Given the description of an element on the screen output the (x, y) to click on. 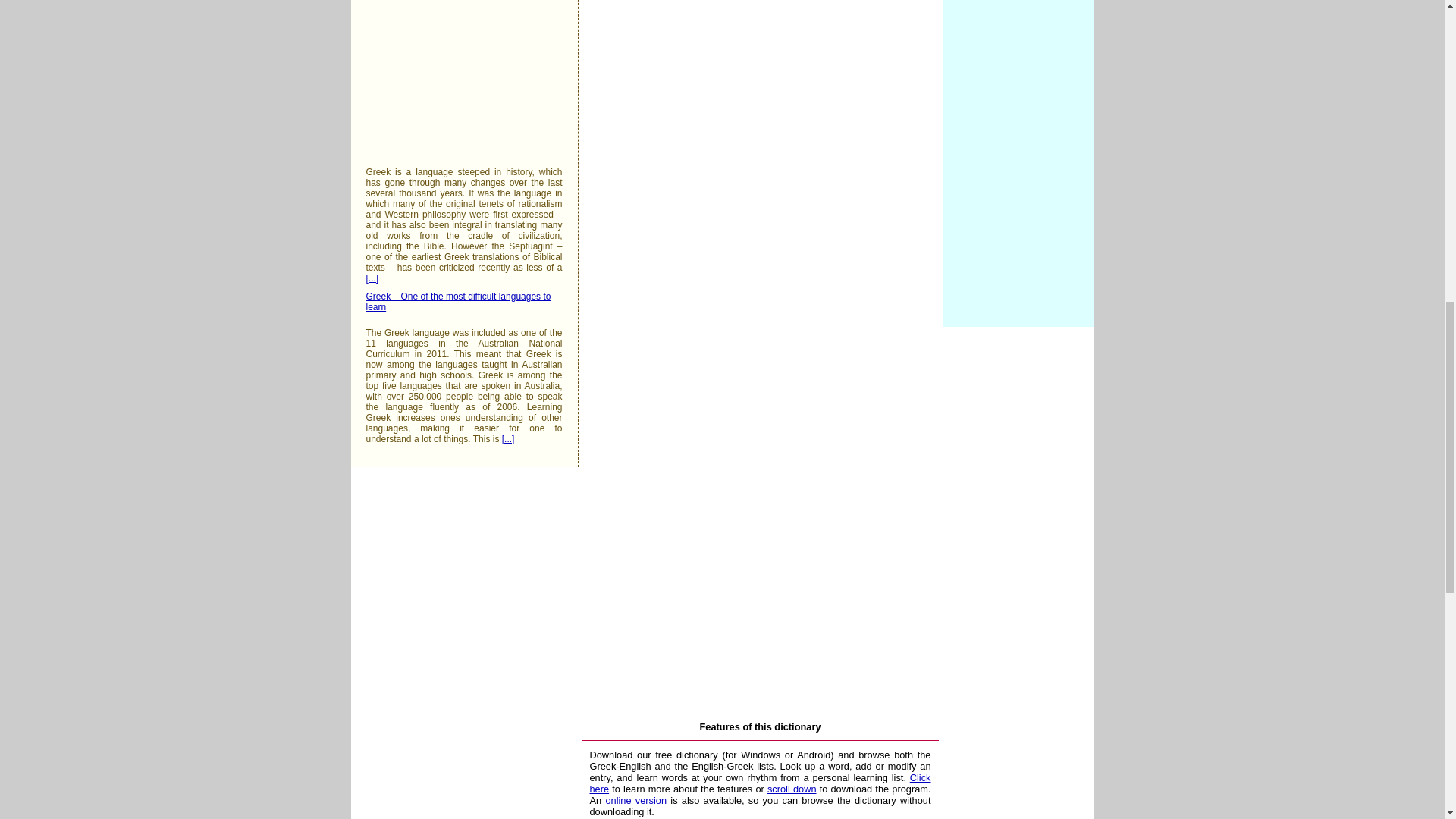
online version (635, 799)
scroll down (791, 788)
Click here (760, 783)
